Given the description of an element on the screen output the (x, y) to click on. 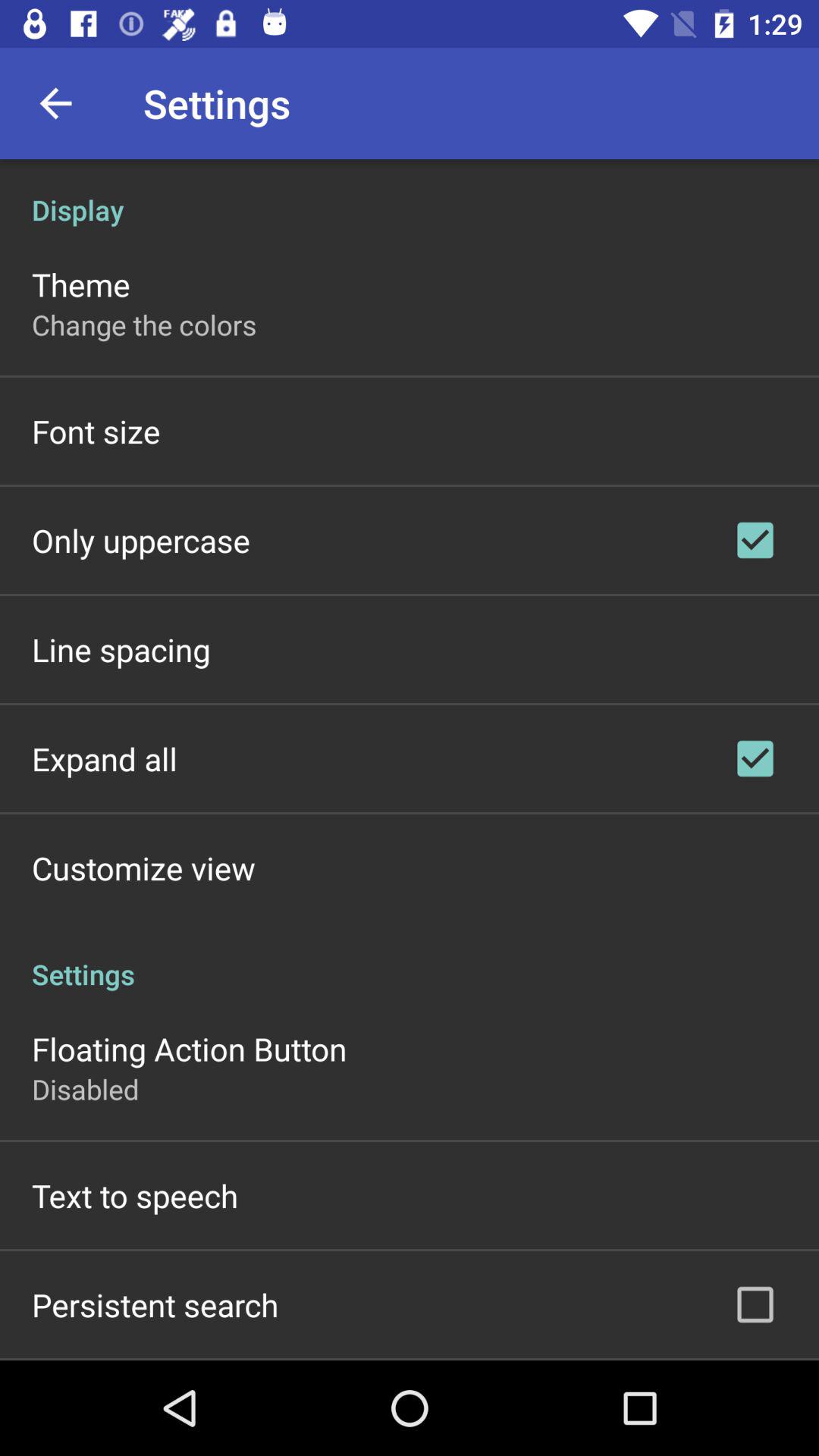
turn on the item above expand all (120, 649)
